Given the description of an element on the screen output the (x, y) to click on. 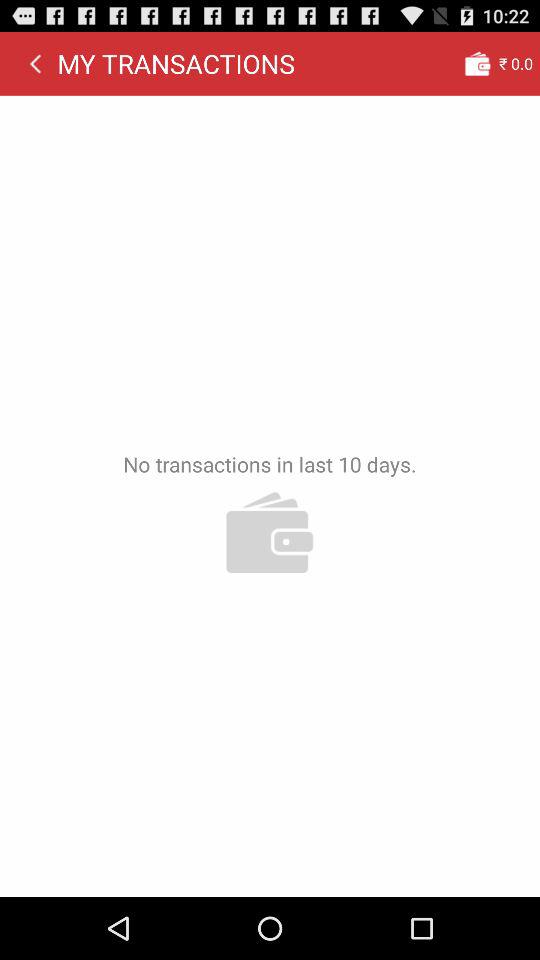
choose the app to the left of the my transactions app (35, 63)
